Given the description of an element on the screen output the (x, y) to click on. 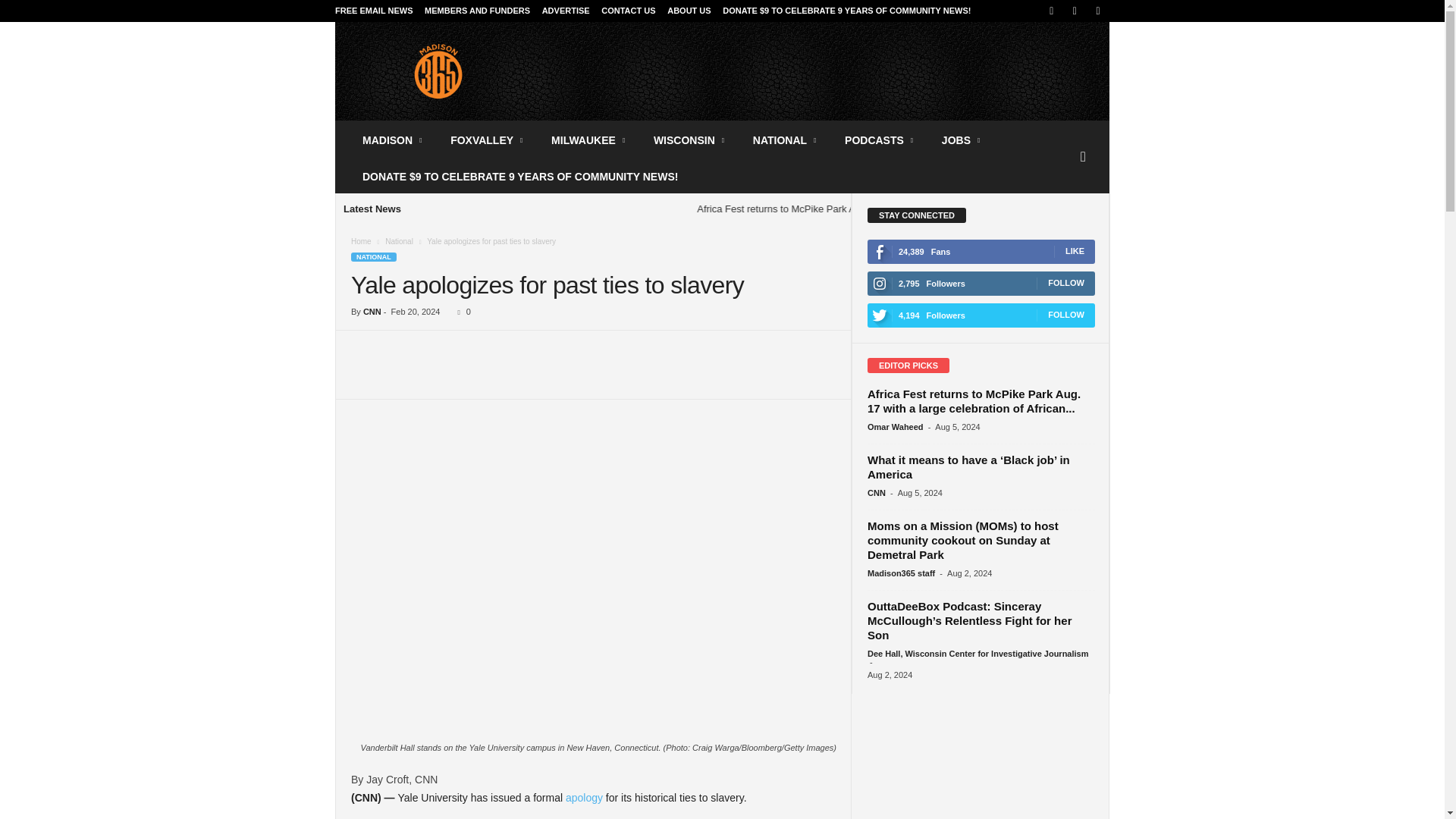
MEMBERS AND FUNDERS (477, 10)
Madison365 (437, 70)
CONTACT US (628, 10)
MADISON (392, 140)
ADVERTISE (565, 10)
ABOUT US (688, 10)
FREE EMAIL NEWS (373, 10)
